Given the description of an element on the screen output the (x, y) to click on. 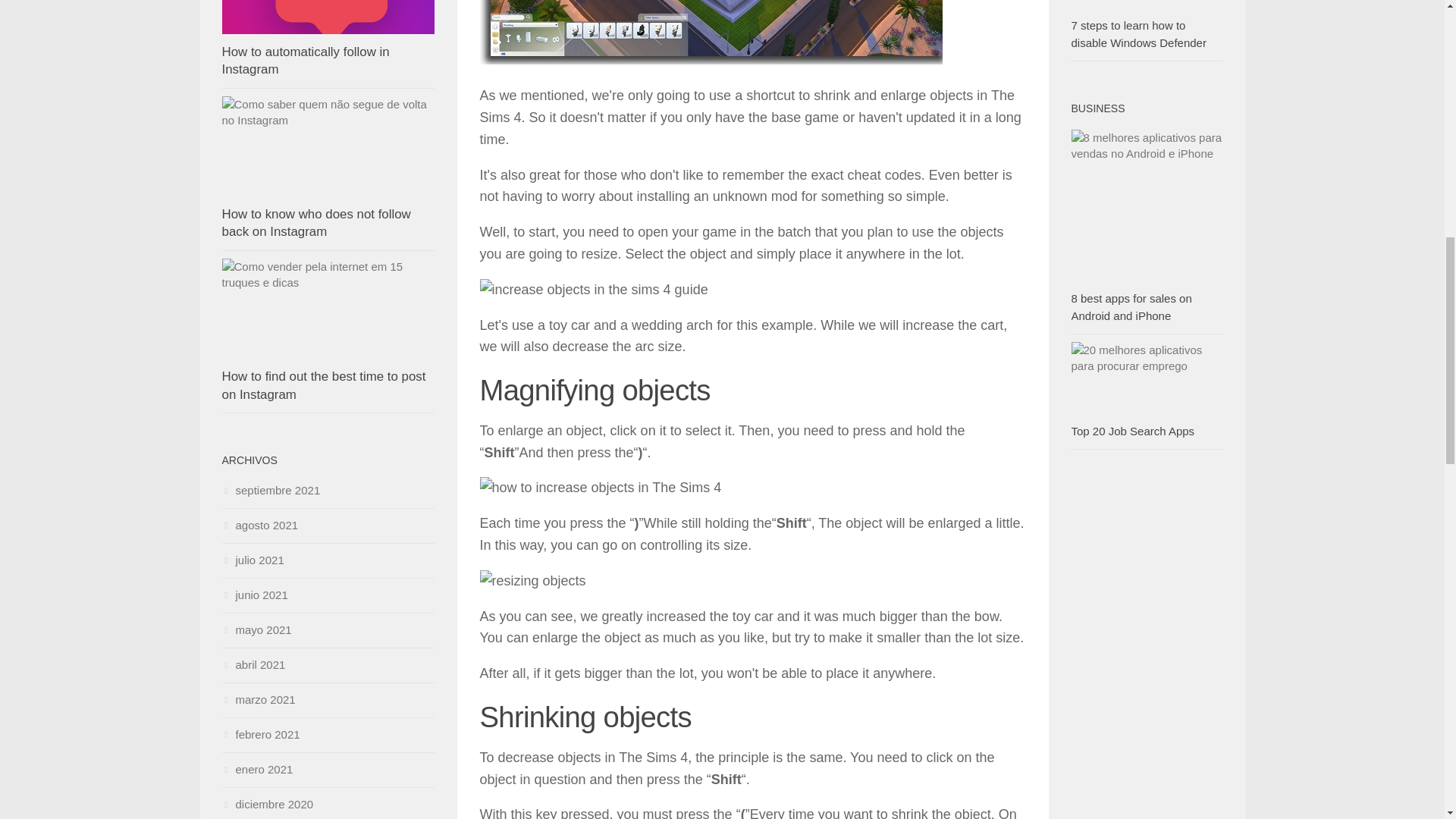
How to know who does not follow back on Instagram (315, 223)
resizing objects (532, 581)
julio 2021 (252, 559)
abril 2021 (253, 664)
agosto 2021 (259, 524)
How to automatically follow in Instagram (304, 60)
mayo 2021 (256, 629)
How to find out the best time to post on Instagram (323, 385)
increase objects in the sims 4 tips (710, 32)
septiembre 2021 (270, 490)
increase objects in the sims 4 guide (593, 290)
how to increase objects in The Sims 4 (599, 487)
marzo 2021 (258, 698)
junio 2021 (253, 594)
